Given the description of an element on the screen output the (x, y) to click on. 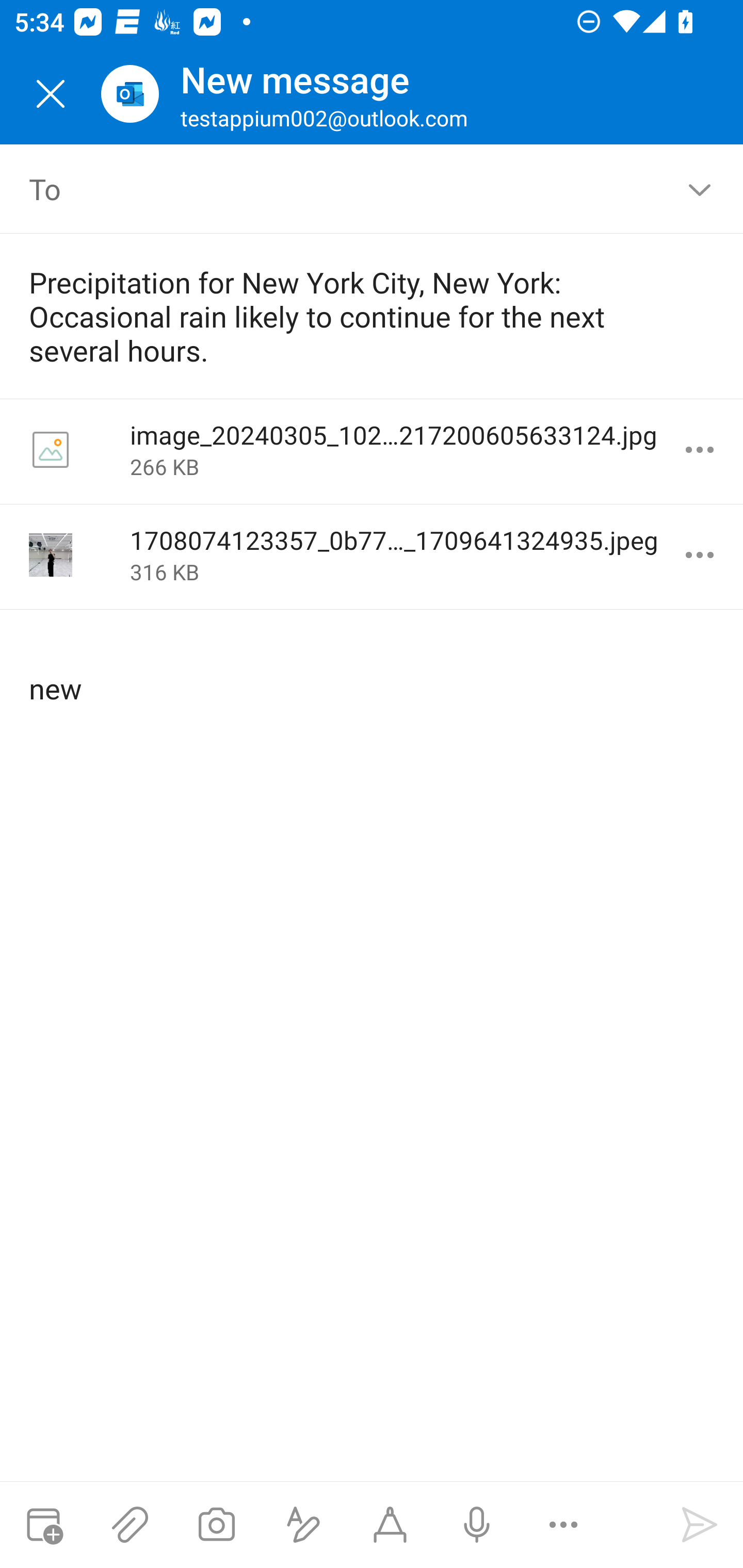
Close (50, 93)
More options (699, 449)
More options (699, 554)

new (372, 671)
Attach meeting (43, 1524)
Attach files (129, 1524)
Take a photo (216, 1524)
Show formatting options (303, 1524)
Start Ink compose (389, 1524)
Dictation (476, 1524)
More options (563, 1524)
Send (699, 1524)
